Given the description of an element on the screen output the (x, y) to click on. 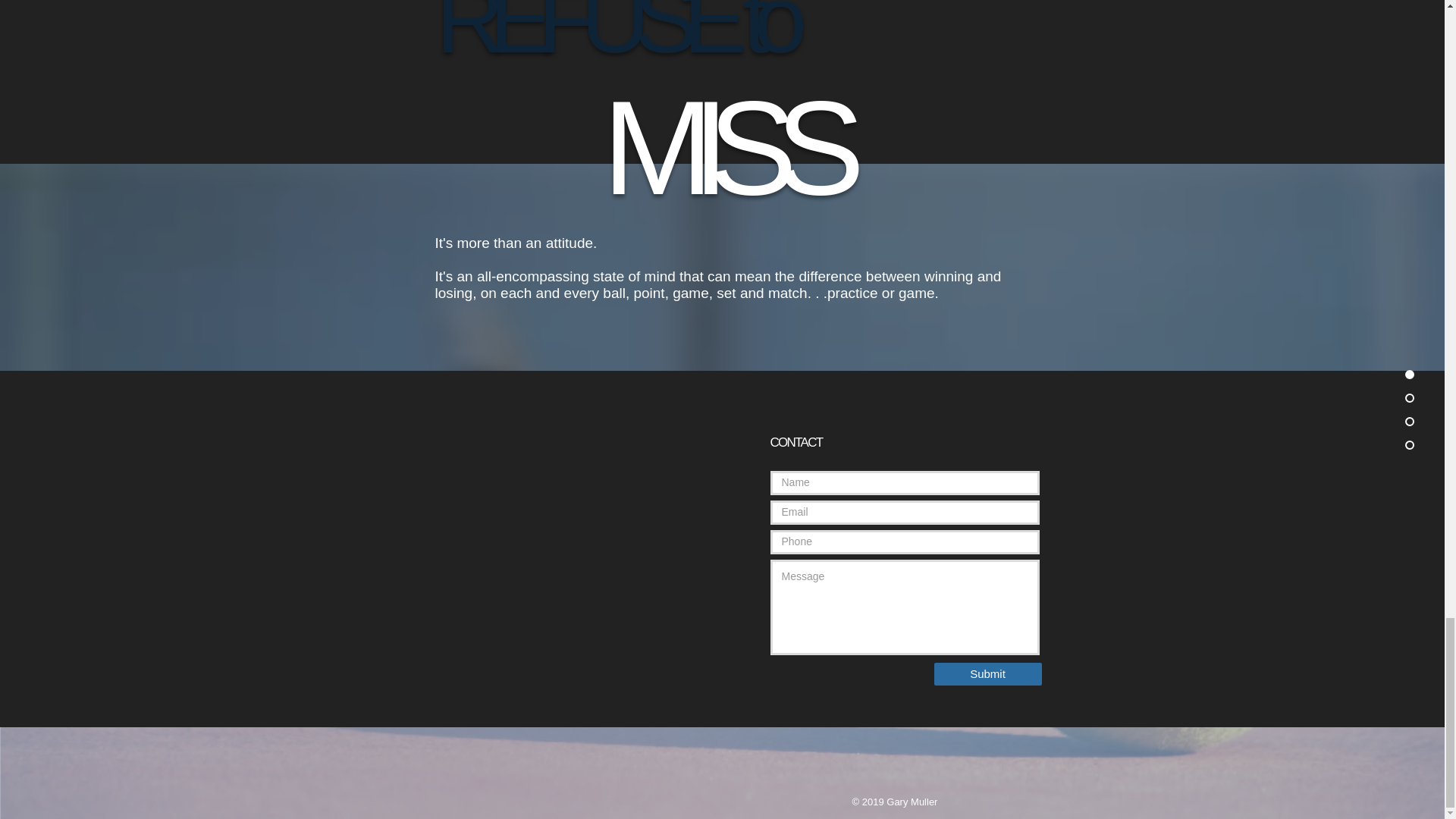
Submit (988, 673)
